Given the description of an element on the screen output the (x, y) to click on. 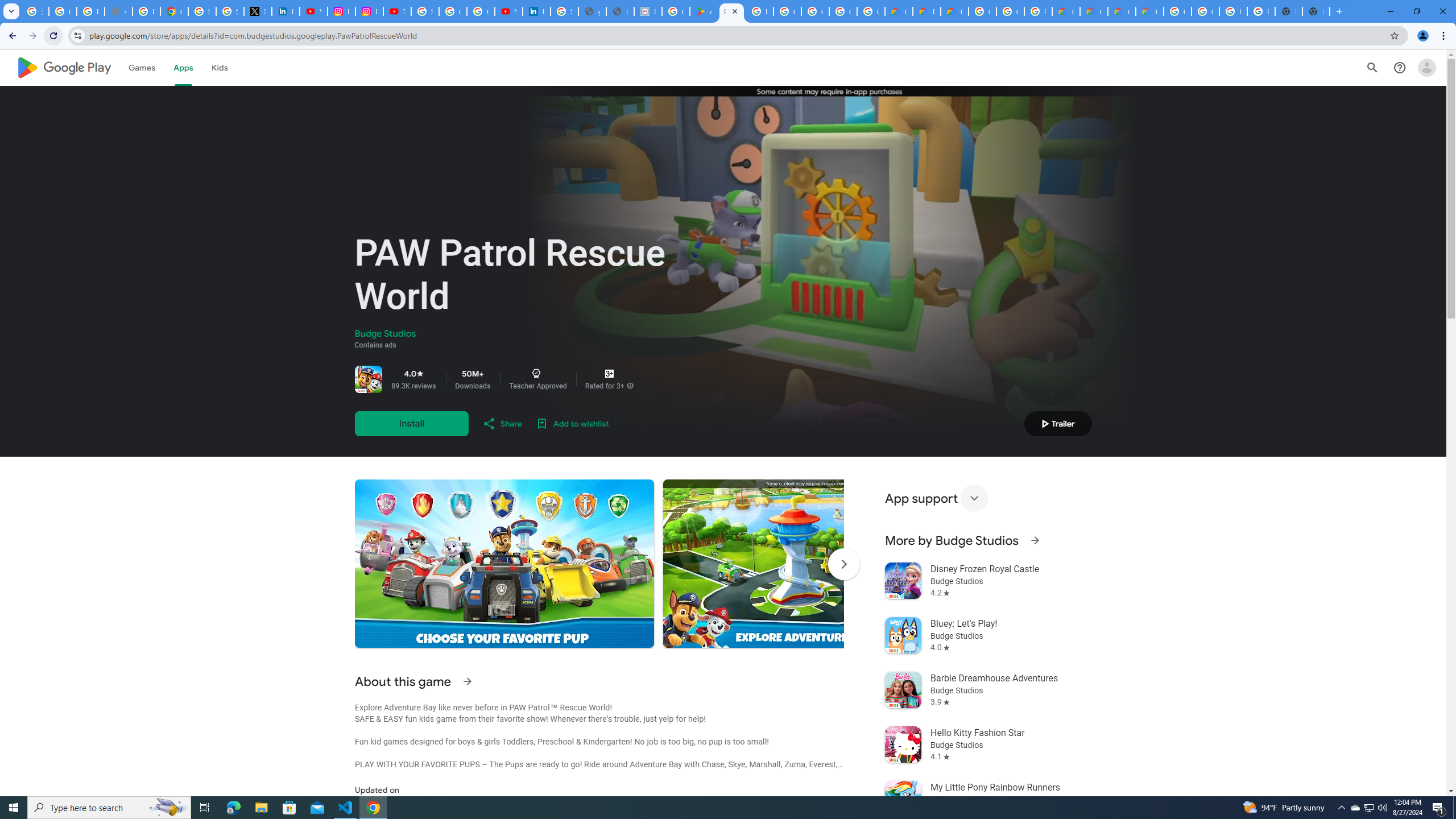
Scroll Next (843, 563)
Customer Care | Google Cloud (898, 11)
Sign in - Google Accounts (425, 11)
Google Cloud Pricing Calculator (1121, 11)
PAW Patrol Rescue World - Apps on Google Play (731, 11)
See more information on More by Budge Studios (1034, 539)
Privacy Help Center - Policies Help (146, 11)
